Given the description of an element on the screen output the (x, y) to click on. 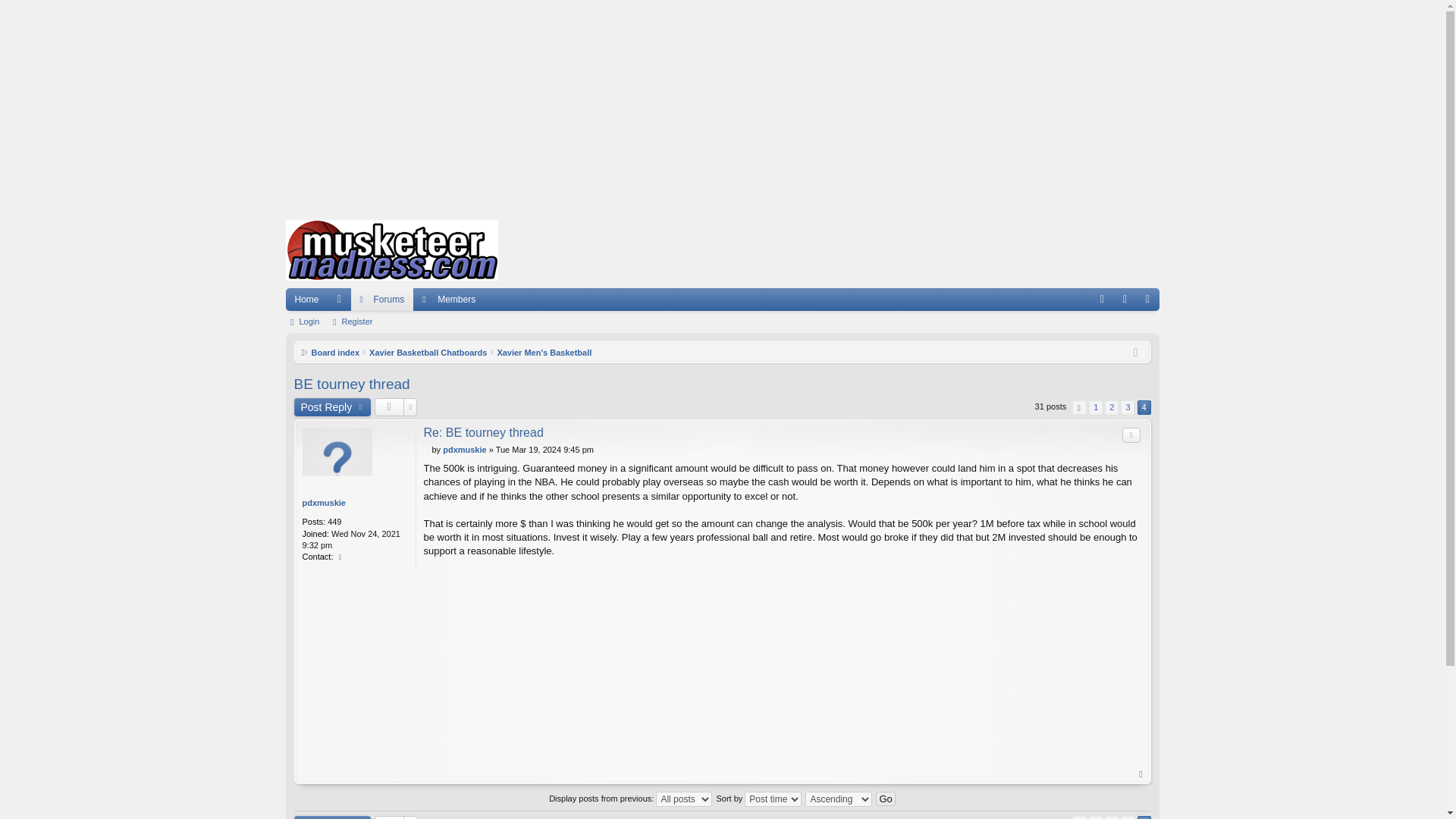
Previous (1078, 407)
Login (304, 322)
pdxmuskie (464, 449)
Home (391, 250)
Home (306, 299)
Xavier Basketball Chatboards (427, 352)
Post Reply (332, 407)
Xavier Men's Basketball (543, 352)
BE tourney thread (352, 383)
Top (1141, 774)
